Given the description of an element on the screen output the (x, y) to click on. 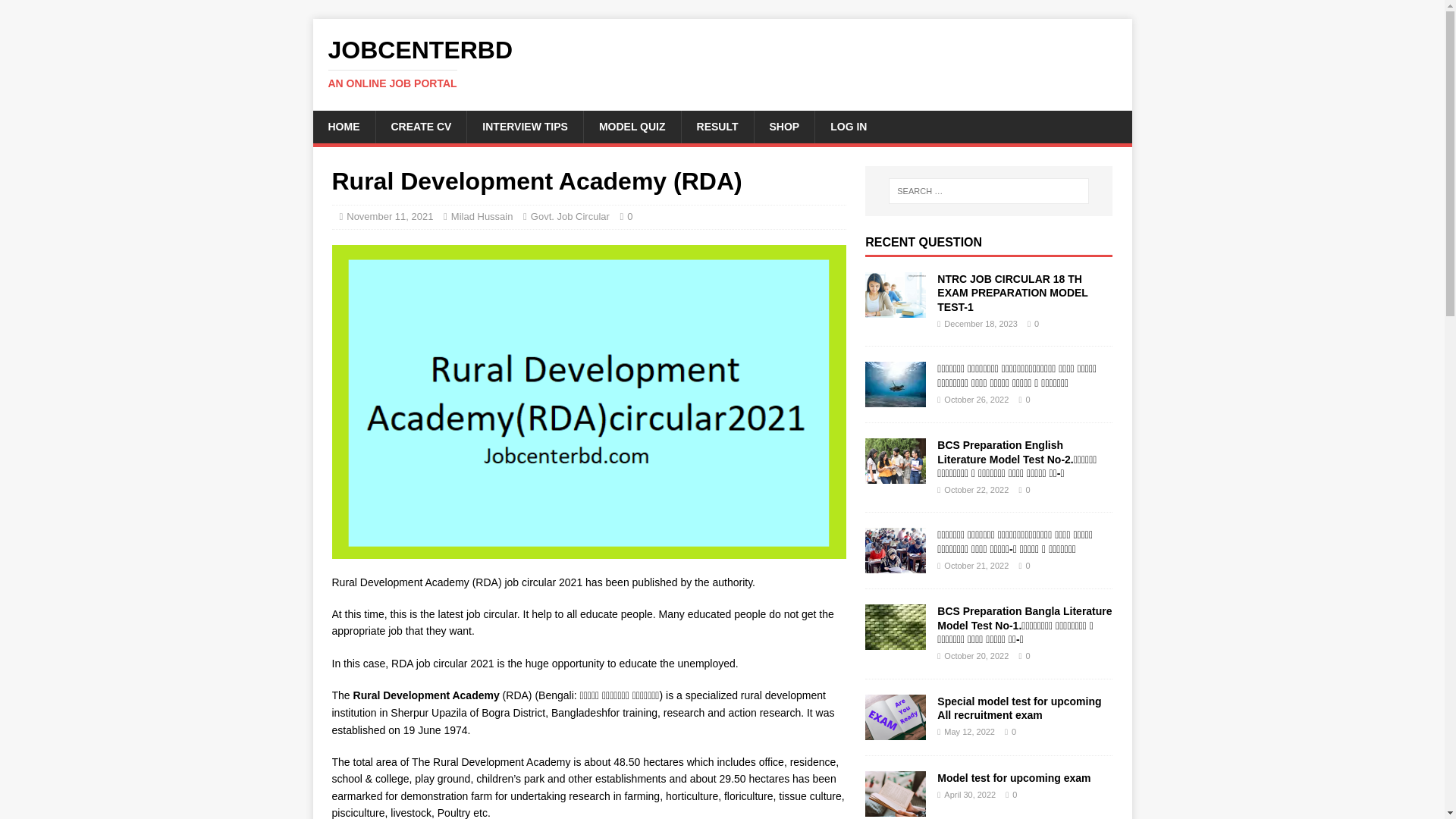
Search (56, 11)
RECENT QUESTION (922, 241)
JobcenterBD (721, 63)
November 11, 2021 (389, 215)
Special model test for upcoming All recruitment exam (895, 730)
NTRC JOB CIRCULAR 18 TH EXAM PREPARATION MODEL TEST-1 (1012, 292)
RESULT (717, 126)
CREATE CV (419, 126)
NTRC JOB CIRCULAR 18 TH EXAM PREPARATION MODEL TEST-1 (895, 309)
Model test for upcoming exam (895, 807)
